Given the description of an element on the screen output the (x, y) to click on. 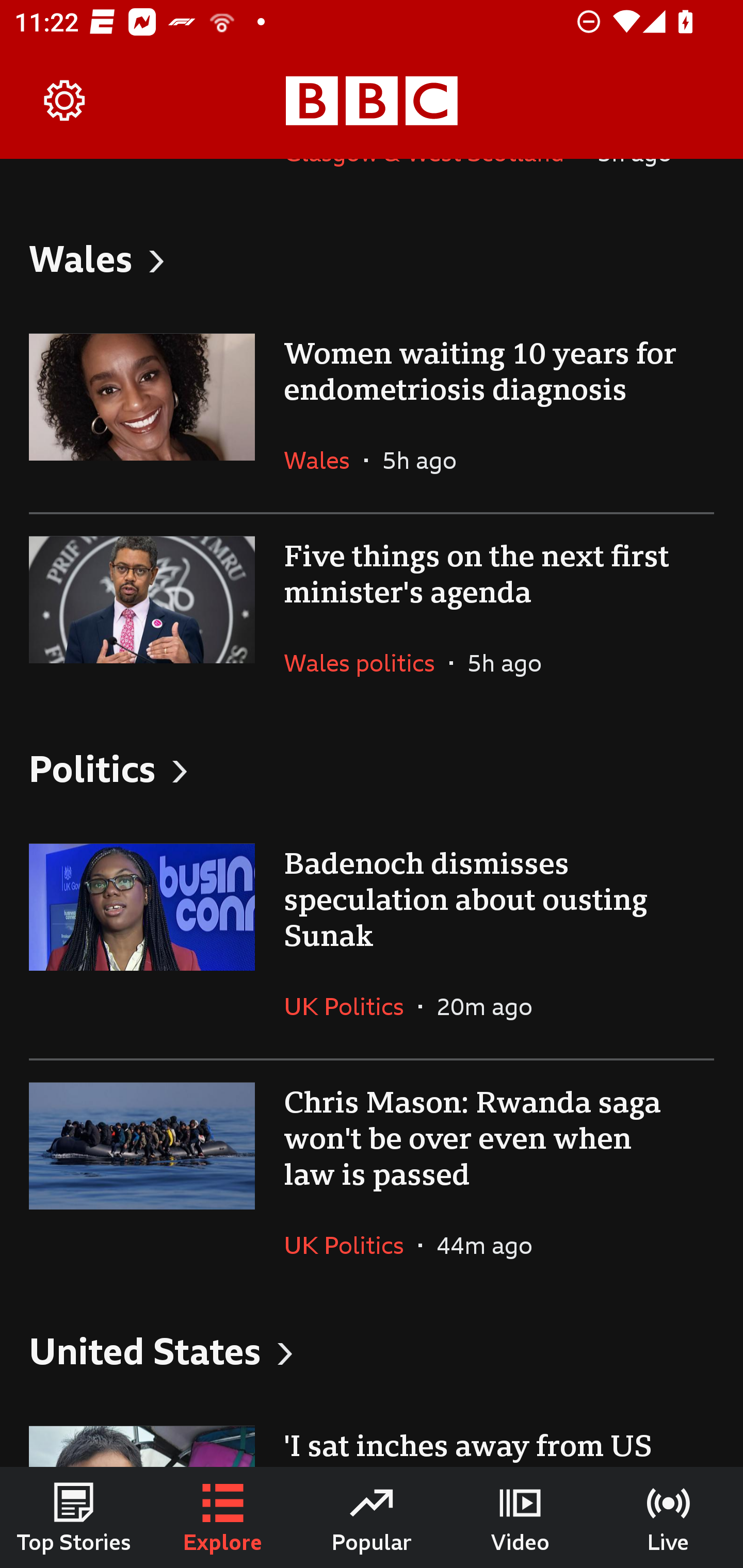
Settings (64, 100)
Wales, Heading Wales    (371, 258)
Wales In the section Wales (323, 459)
Wales politics In the section Wales politics (366, 662)
Politics, Heading Politics    (371, 768)
UK Politics In the section UK Politics (350, 1006)
UK Politics In the section UK Politics (350, 1244)
United States, Heading United States    (371, 1349)
Top Stories (74, 1517)
Popular (371, 1517)
Video (519, 1517)
Live (668, 1517)
